Given the description of an element on the screen output the (x, y) to click on. 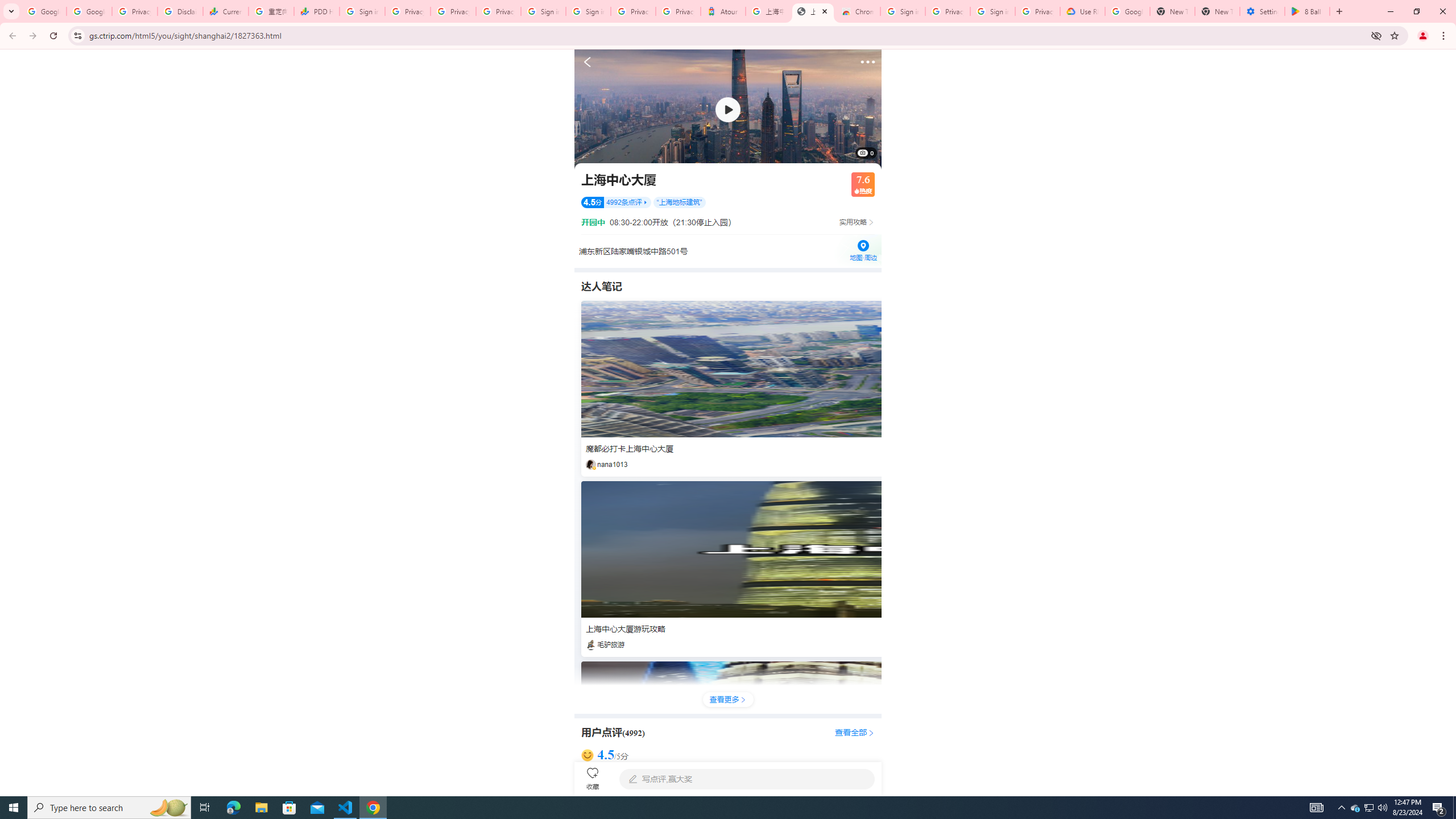
Settings - System (1262, 11)
Chrome Web Store - Color themes by Chrome (857, 11)
Sign in - Google Accounts (542, 11)
PDD Holdings Inc - ADR (PDD) Price & News - Google Finance (316, 11)
To get missing image descriptions, open the context menu. (727, 109)
